Given the description of an element on the screen output the (x, y) to click on. 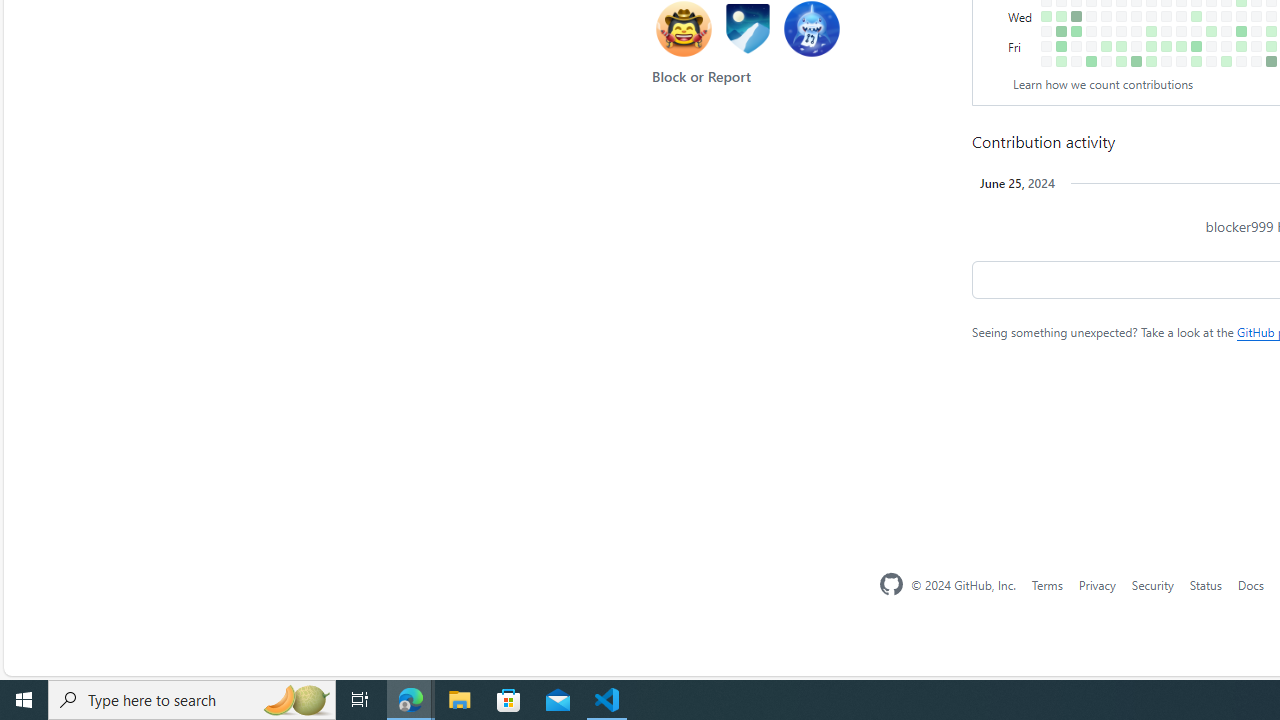
1 contribution on January 13th. (1061, 61)
4 contributions on January 27th. (1090, 61)
Terms (1046, 584)
Saturday (1022, 61)
No contributions on March 2nd. (1166, 61)
Terms (1046, 584)
8 contributions on February 17th. (1136, 61)
Docs (1250, 584)
No contributions on January 20th. (1076, 61)
2 contributions on February 24th. (1151, 61)
Status (1205, 584)
3 contributions on March 30th. (1226, 61)
Learn how we count contributions (1103, 84)
